Given the description of an element on the screen output the (x, y) to click on. 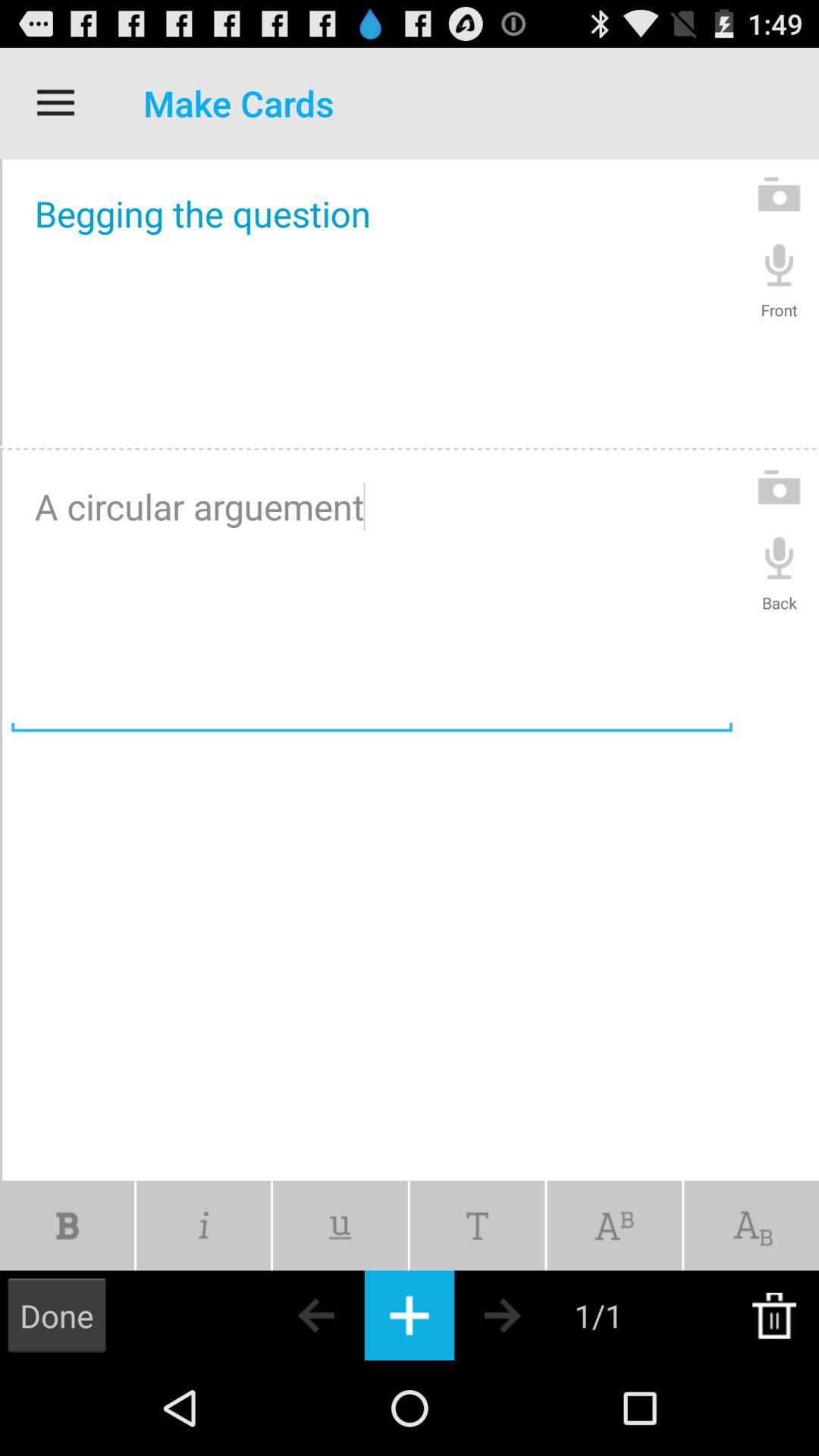
delete the argument (774, 1315)
